Given the description of an element on the screen output the (x, y) to click on. 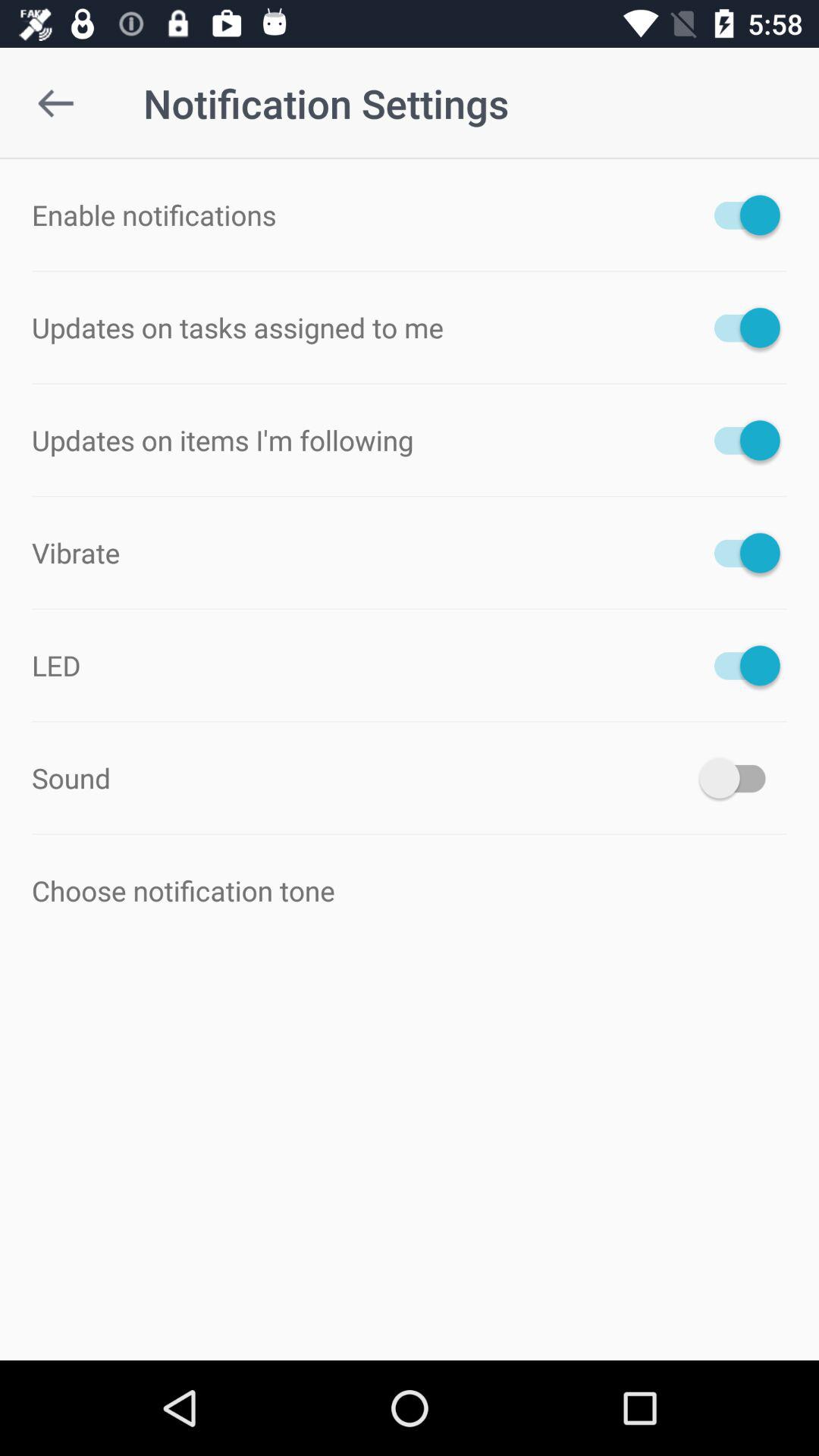
on/off button (739, 327)
